Given the description of an element on the screen output the (x, y) to click on. 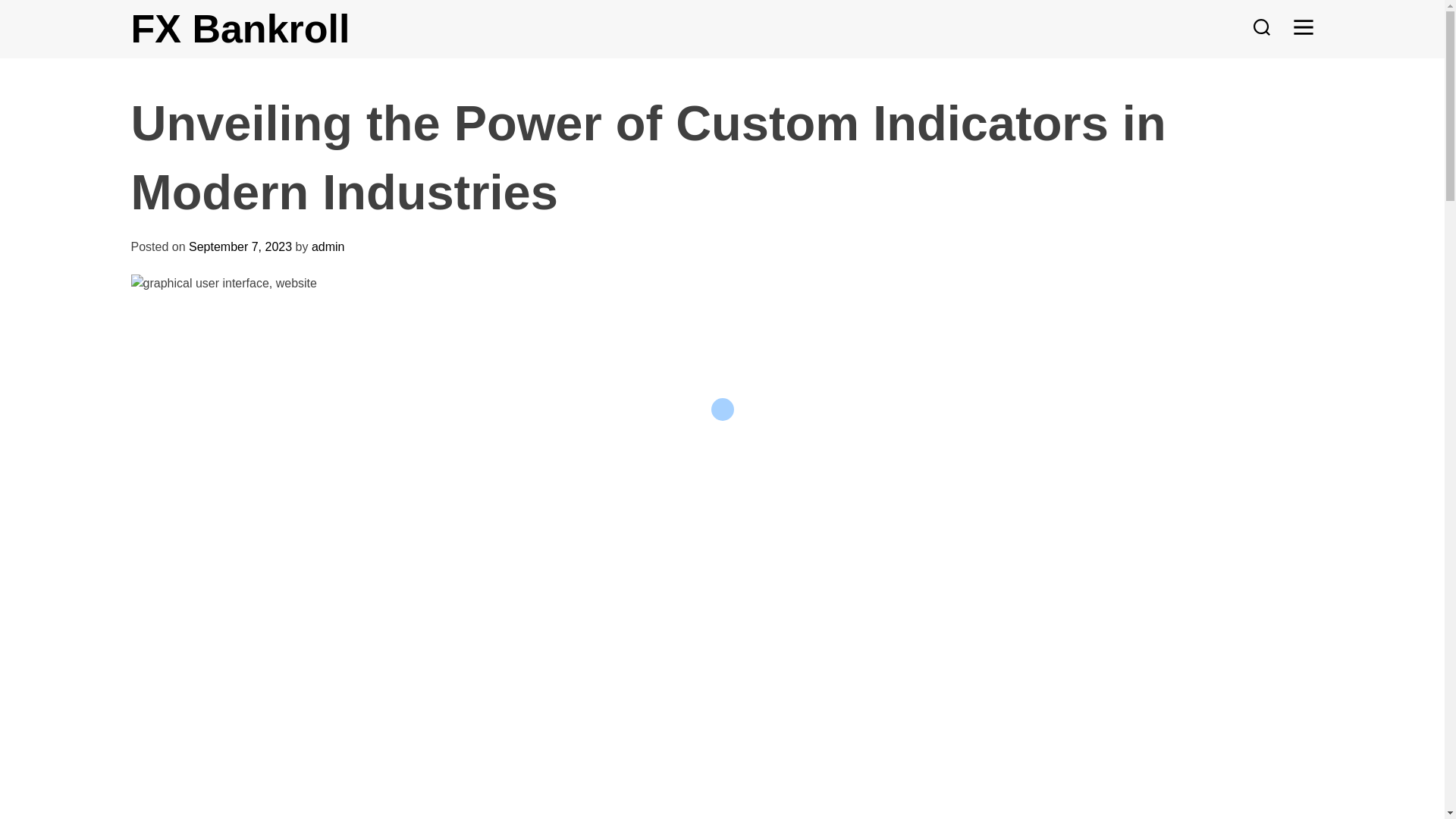
Search (1260, 29)
admin (328, 246)
Menu (1302, 29)
September 7, 2023 (240, 246)
FX Bankroll (240, 28)
